Given the description of an element on the screen output the (x, y) to click on. 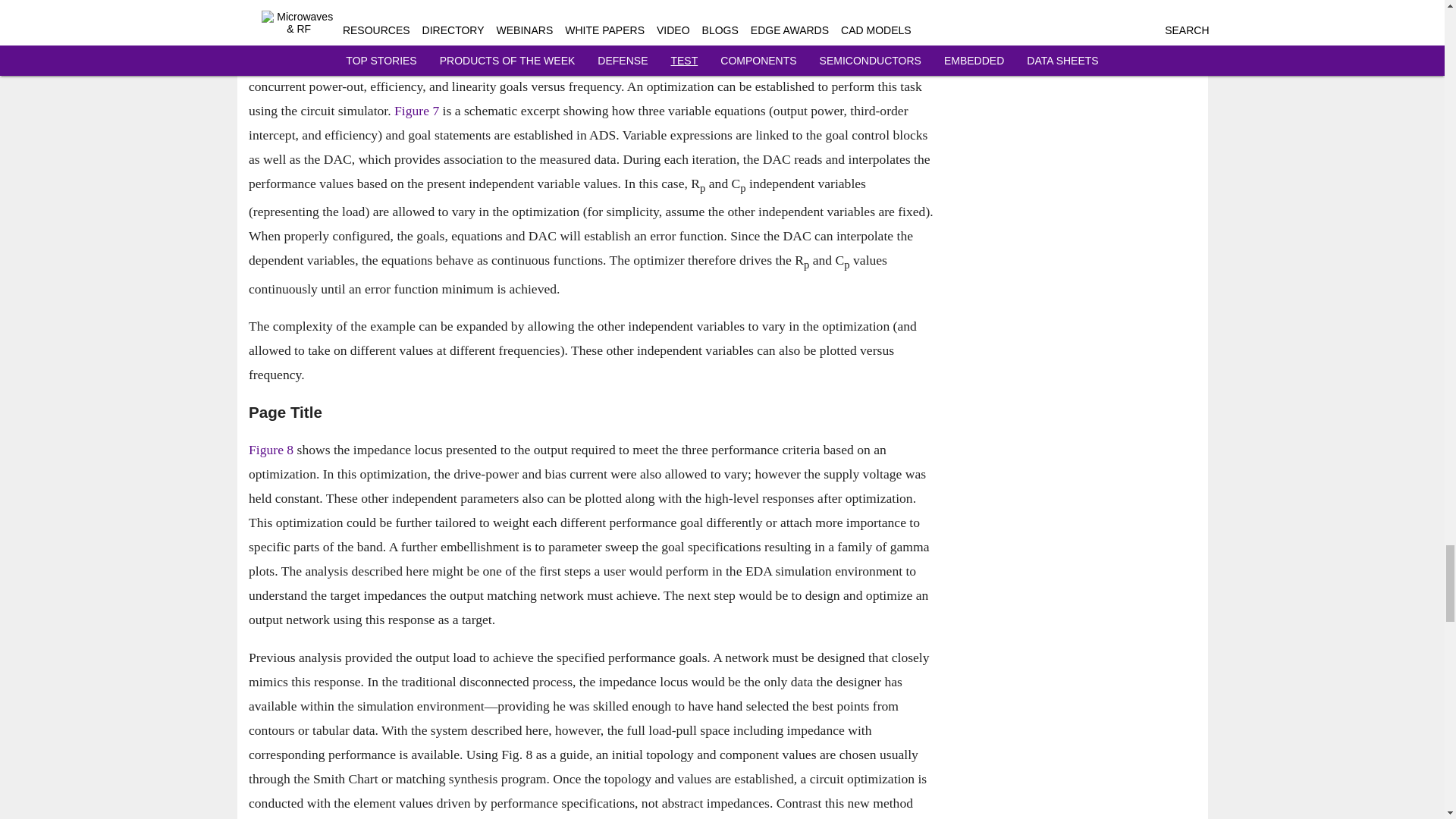
Figure 7 (416, 110)
Figure 8 (271, 450)
